Given the description of an element on the screen output the (x, y) to click on. 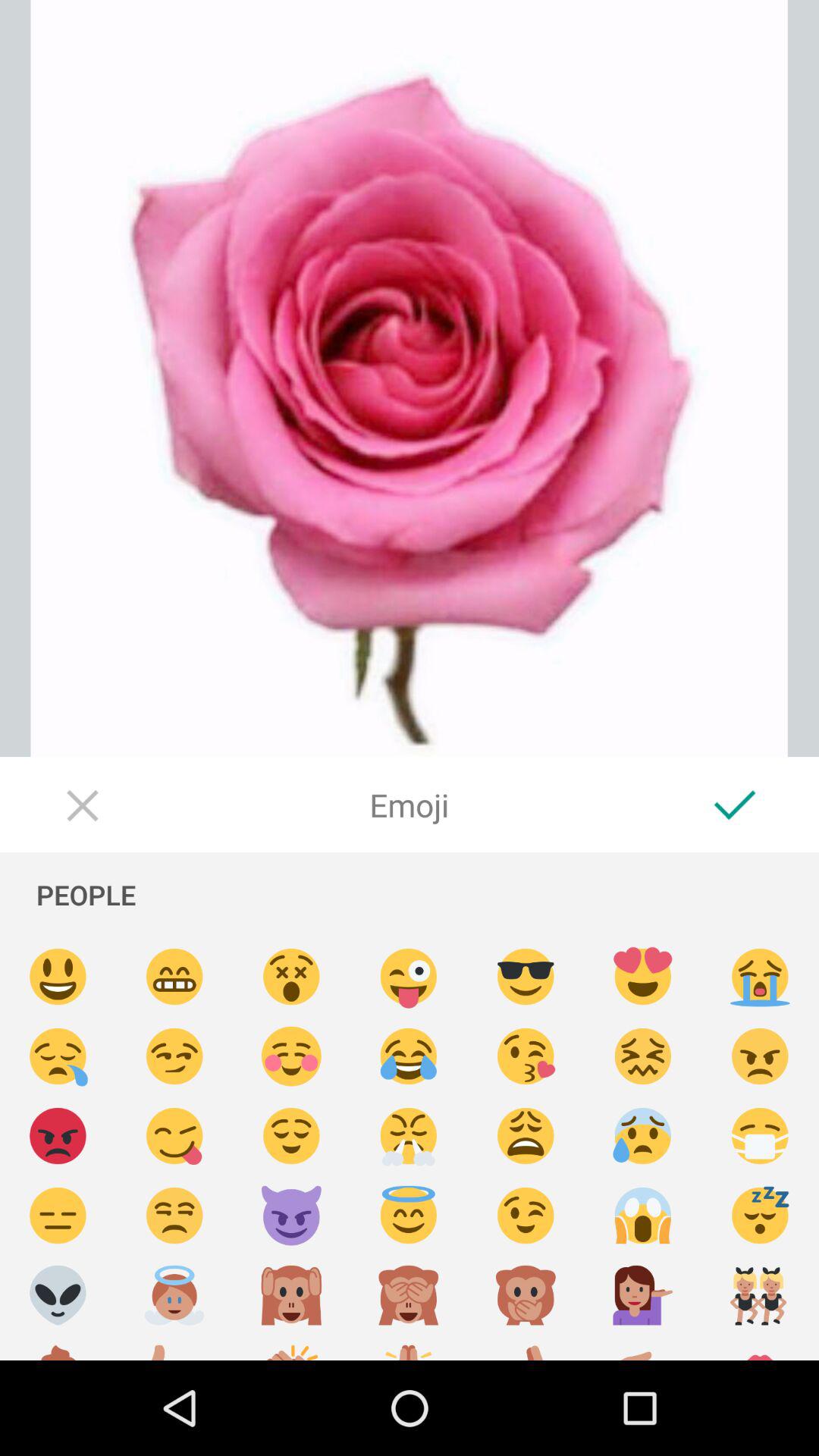
insert emoji (642, 1295)
